Given the description of an element on the screen output the (x, y) to click on. 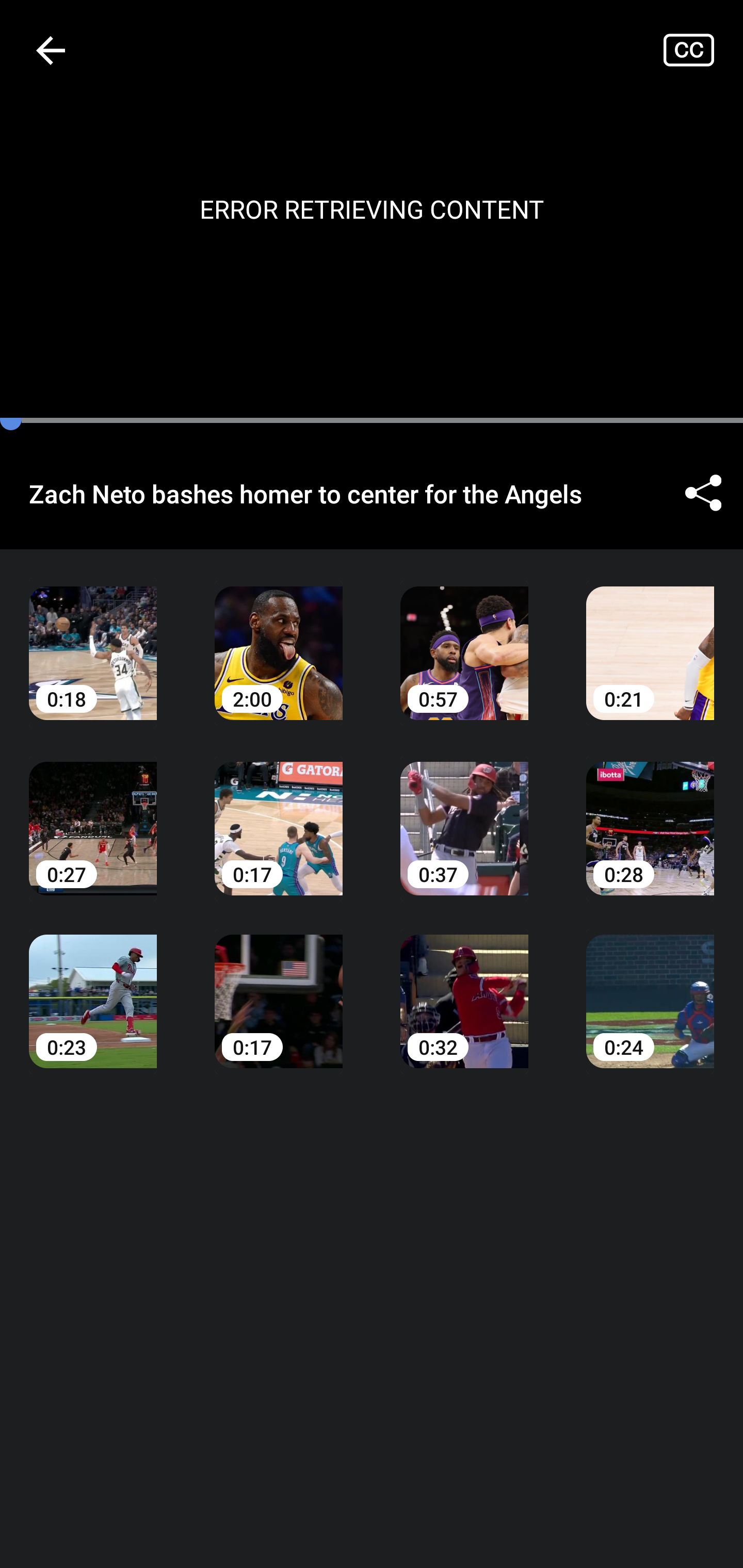
Navigate up (50, 50)
Closed captions  (703, 49)
Share © (703, 493)
0:18 (92, 637)
2:00 (278, 637)
0:57 (464, 637)
0:21 (650, 637)
0:27 (92, 813)
0:17 (278, 813)
0:37 (464, 813)
0:28 (650, 813)
0:23 (92, 987)
0:17 (278, 987)
0:32 (464, 987)
0:24 (650, 987)
